Given the description of an element on the screen output the (x, y) to click on. 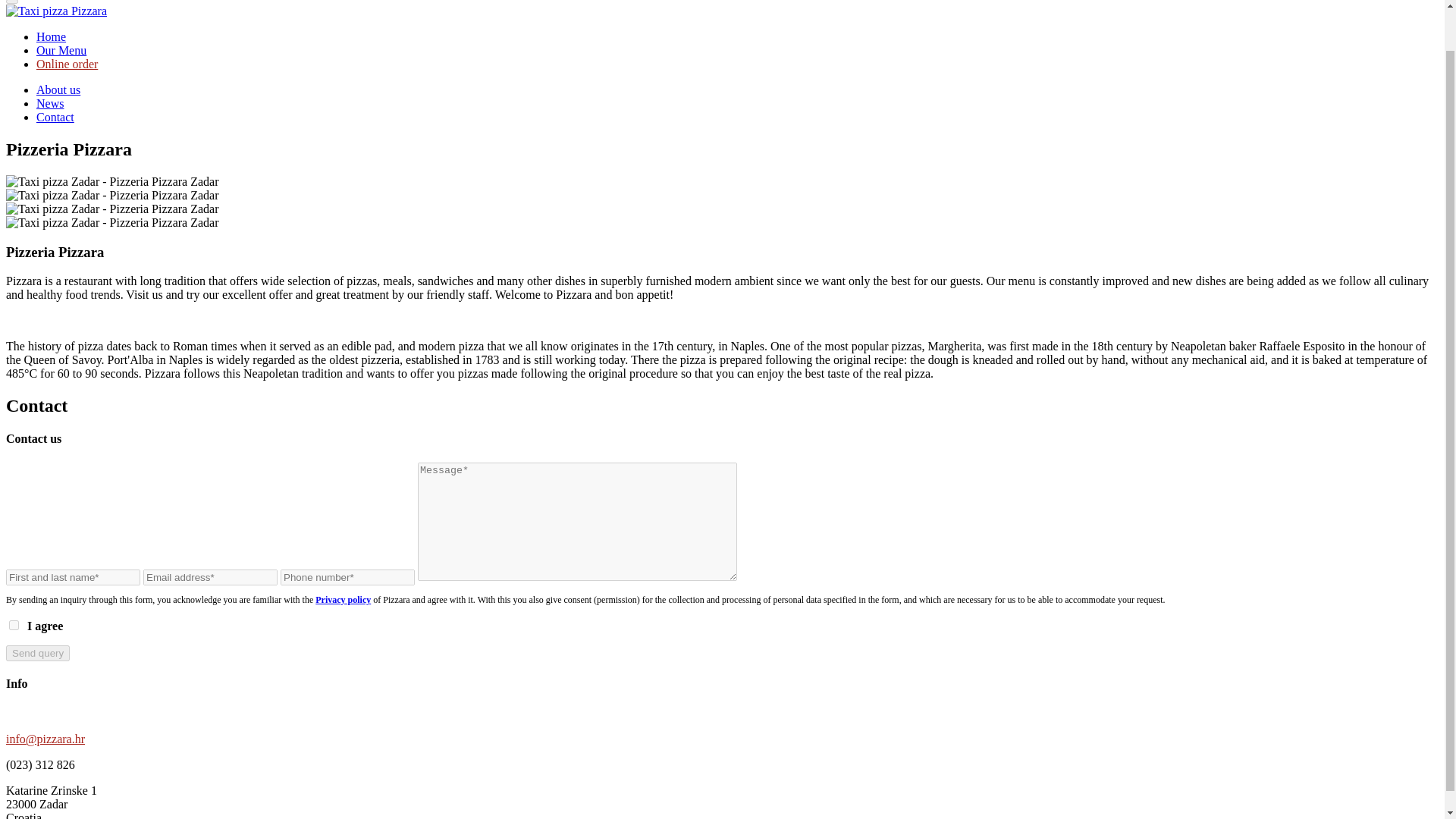
Send query (37, 652)
News (50, 103)
Our Menu (60, 50)
on (13, 624)
Privacy policy (343, 599)
About us (58, 89)
Home (50, 36)
Contact (55, 116)
Online order (66, 63)
